Given the description of an element on the screen output the (x, y) to click on. 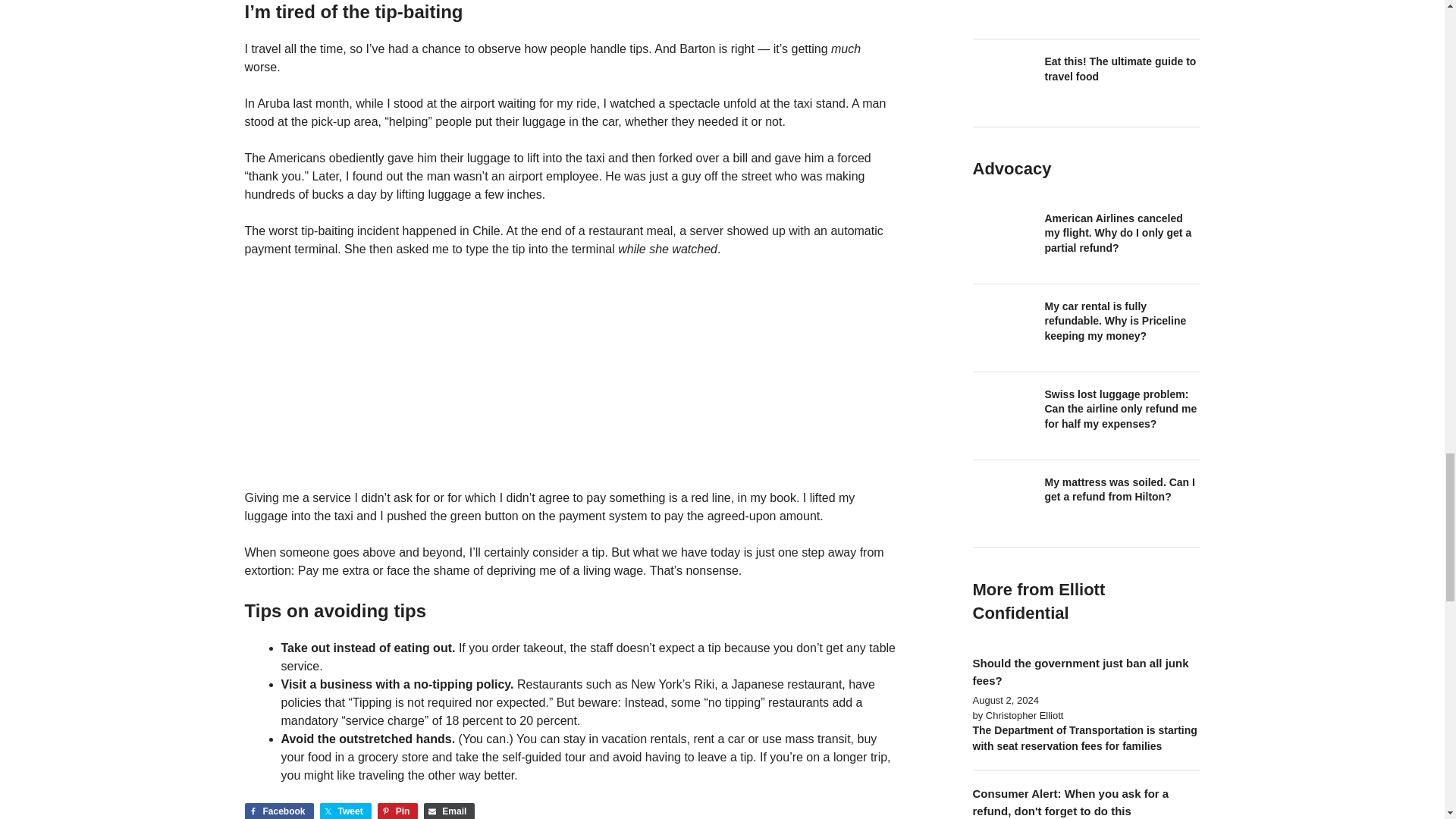
Share on Pinterest (398, 811)
Email (448, 811)
Share on Twitter (345, 811)
Share via Email (448, 811)
Share on Facebook (278, 811)
